Given the description of an element on the screen output the (x, y) to click on. 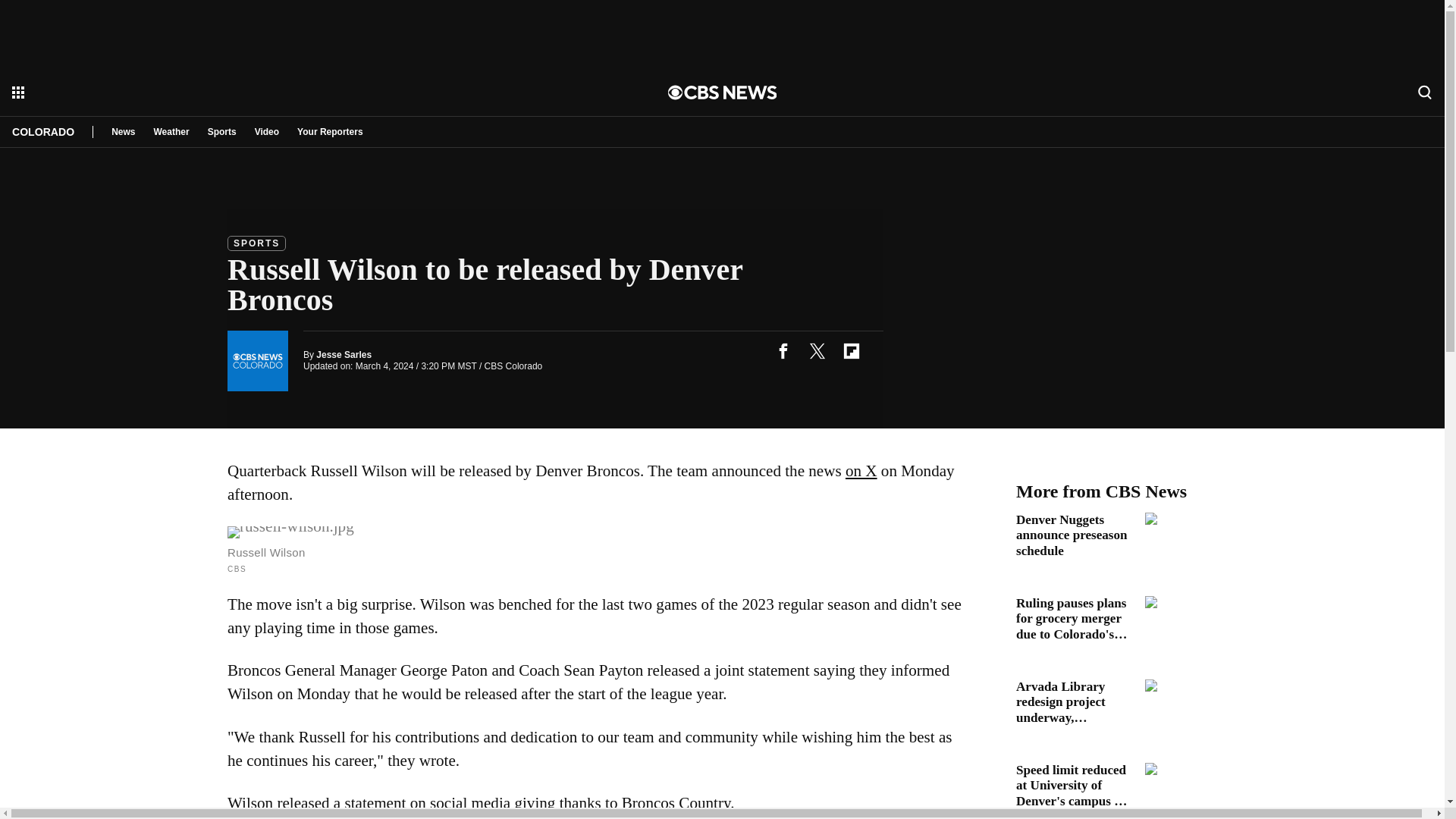
twitter (816, 350)
flipboard (850, 350)
facebook (782, 350)
